Given the description of an element on the screen output the (x, y) to click on. 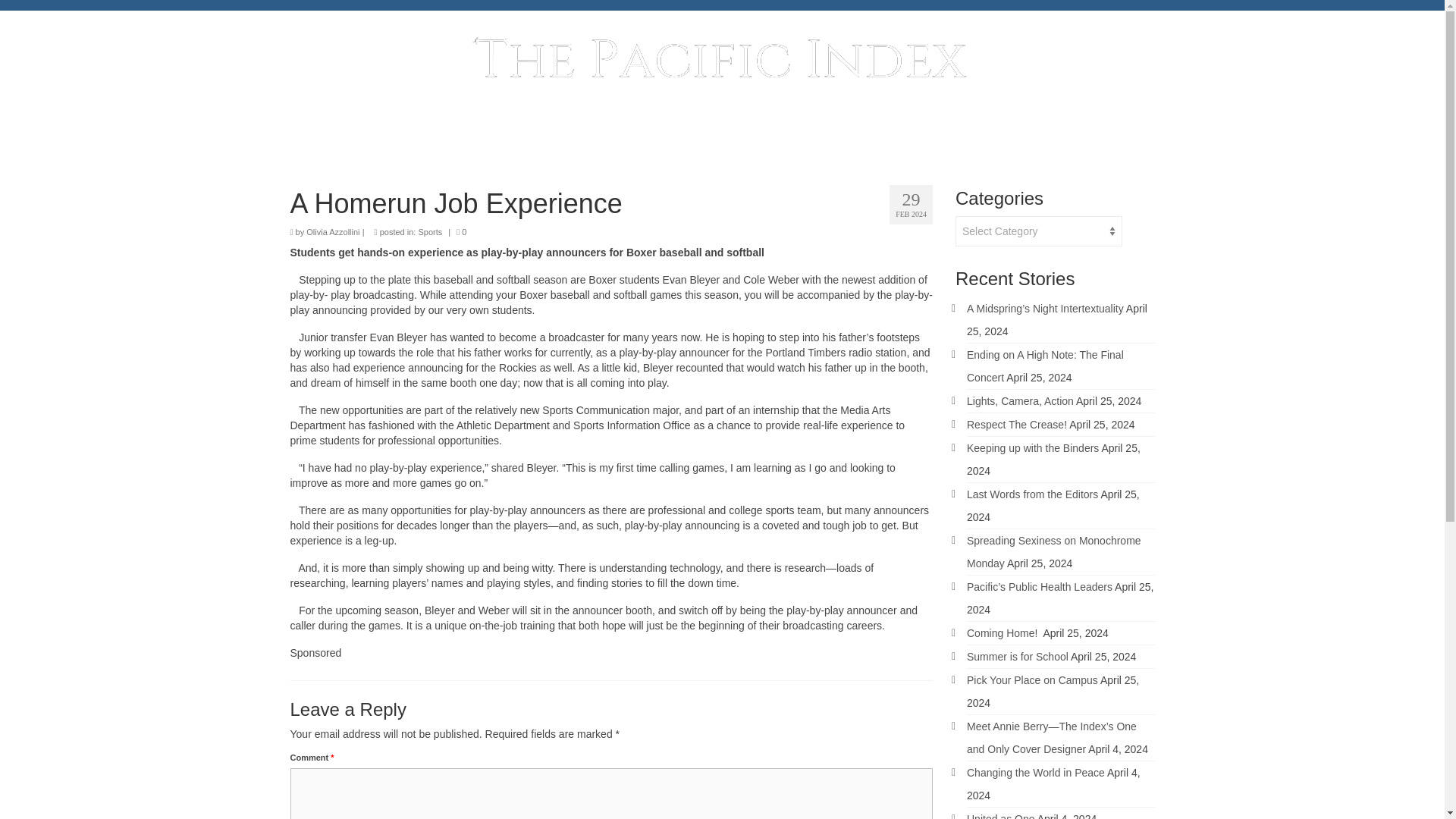
Sports (625, 136)
News (555, 136)
Ending on A High Note: The Final Concert (1045, 366)
Spreading Sexiness on Monochrome Monday (1053, 551)
Sports (429, 231)
Changing the World in Peace (1035, 772)
Respect The Crease! (1016, 424)
Arts and Culture (727, 136)
Olivia Azzollini (332, 231)
Keeping up with the Binders (1032, 448)
Summer is for School (1017, 656)
Food (828, 136)
United as One (1000, 816)
Lights, Camera, Action (1020, 400)
Pick Your Place on Campus (1031, 680)
